Given the description of an element on the screen output the (x, y) to click on. 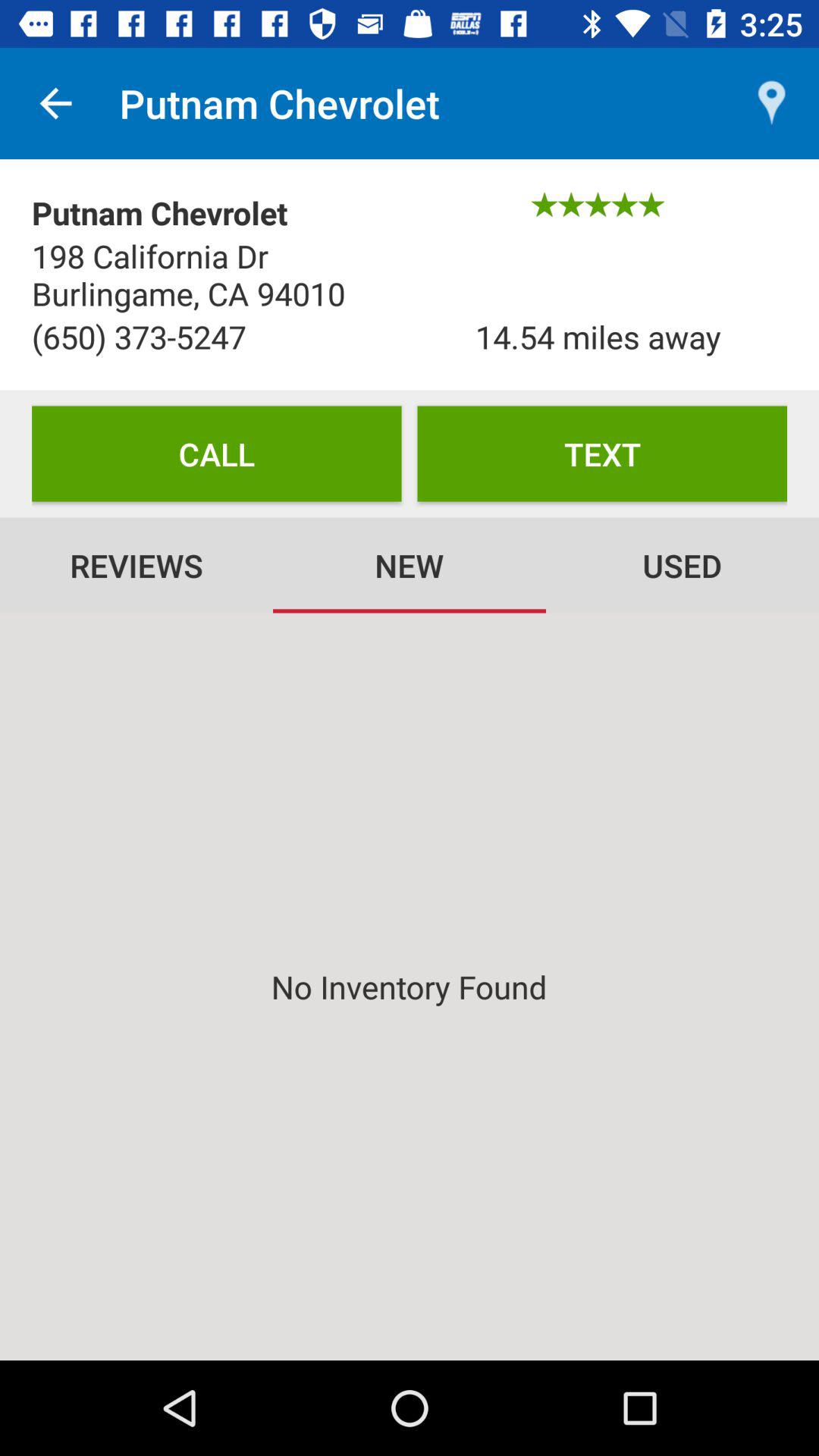
not found (409, 986)
